Given the description of an element on the screen output the (x, y) to click on. 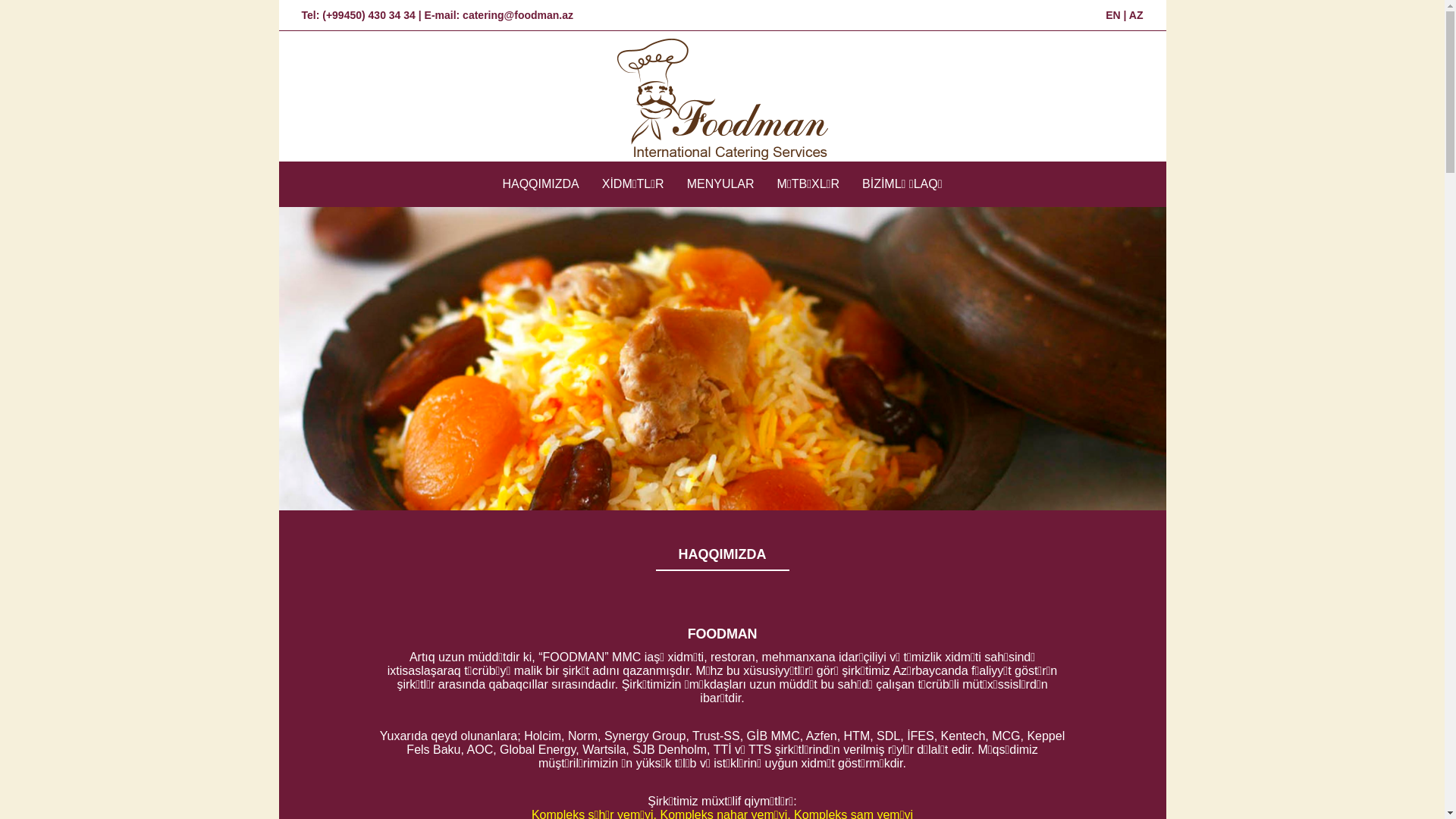
HAQQIMIZDA Element type: text (539, 184)
MENYULAR Element type: text (720, 184)
EN Element type: text (1112, 15)
AZ Element type: text (1136, 15)
